Given the description of an element on the screen output the (x, y) to click on. 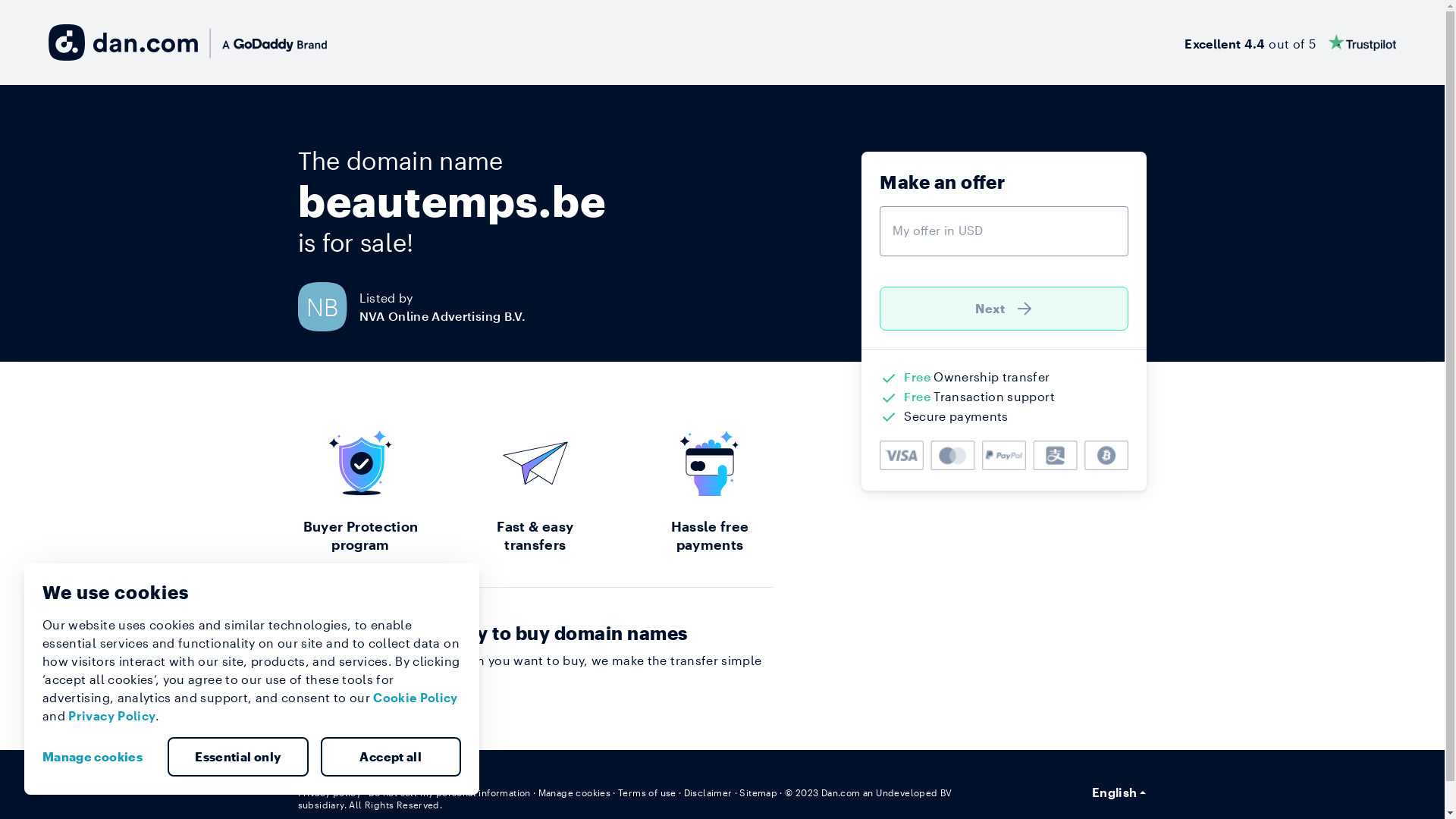
Do not sell my personal information Element type: text (449, 792)
Excellent 4.4 out of 5 Element type: text (1290, 42)
Terms of use Element type: text (647, 792)
Manage cookies Element type: text (98, 756)
Cookie Policy Element type: text (415, 697)
English Element type: text (1119, 792)
Essential only Element type: text (237, 756)
Next
) Element type: text (1003, 308)
Privacy Policy Element type: text (111, 715)
Sitemap Element type: text (758, 792)
Privacy policy Element type: text (328, 792)
Manage cookies Element type: text (574, 792)
Accept all Element type: text (390, 756)
Disclaimer Element type: text (708, 792)
